Given the description of an element on the screen output the (x, y) to click on. 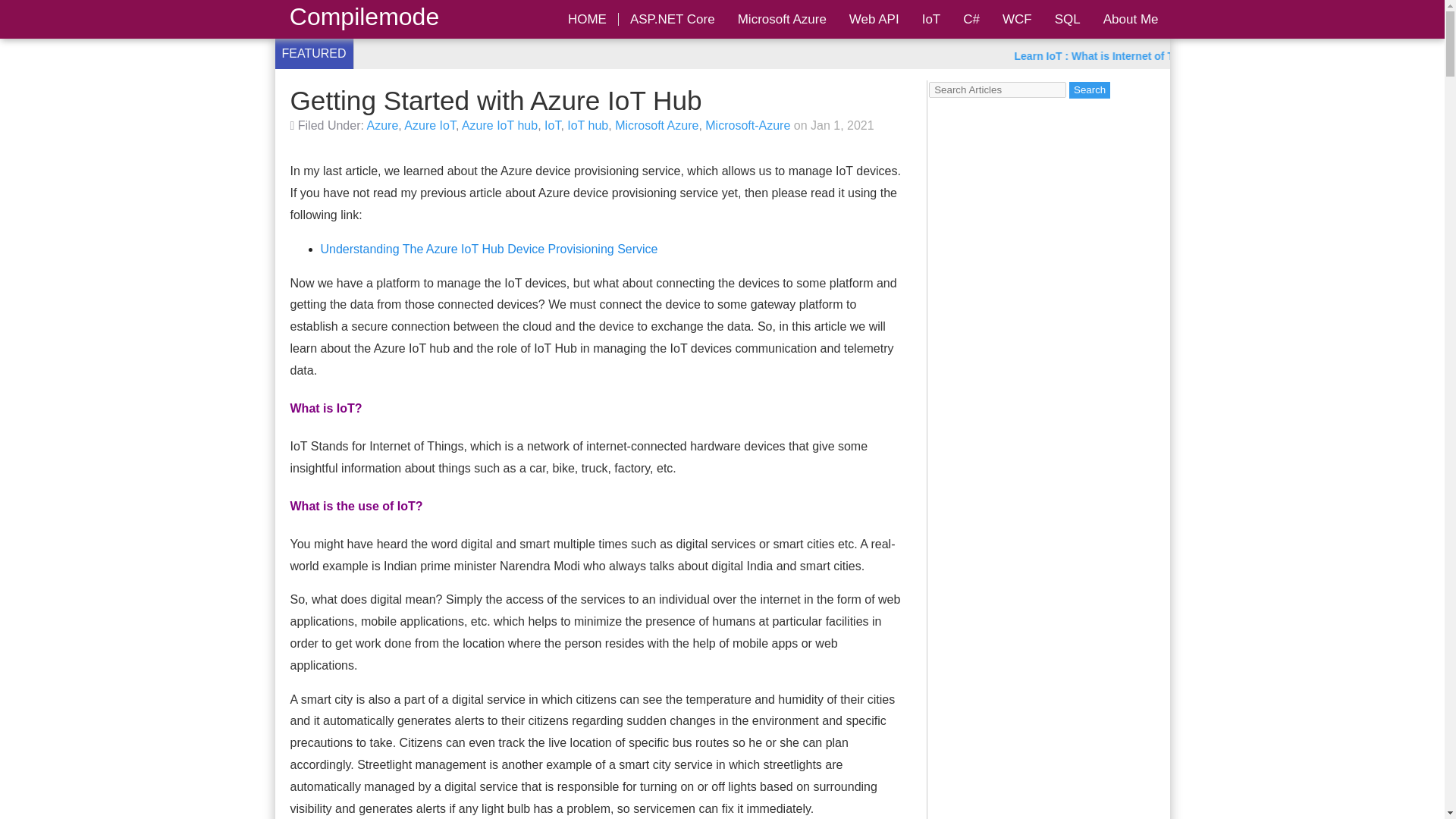
Microsoft Azure (656, 124)
Compilemode (364, 16)
IoT (931, 19)
About Me (1131, 19)
SQL (1067, 19)
Microsoft-Azure (747, 124)
Microsoft Azure (782, 19)
IoT (552, 124)
Internet of Things Tutorial (931, 19)
Understanding The Azure IoT Hub Device Provisioning Service (489, 248)
WCF (1017, 19)
ASP.NET, ASP.NET Core, ASP.NET MVC Tutorial (672, 19)
Web API (874, 19)
Advertisement (1048, 805)
